Given the description of an element on the screen output the (x, y) to click on. 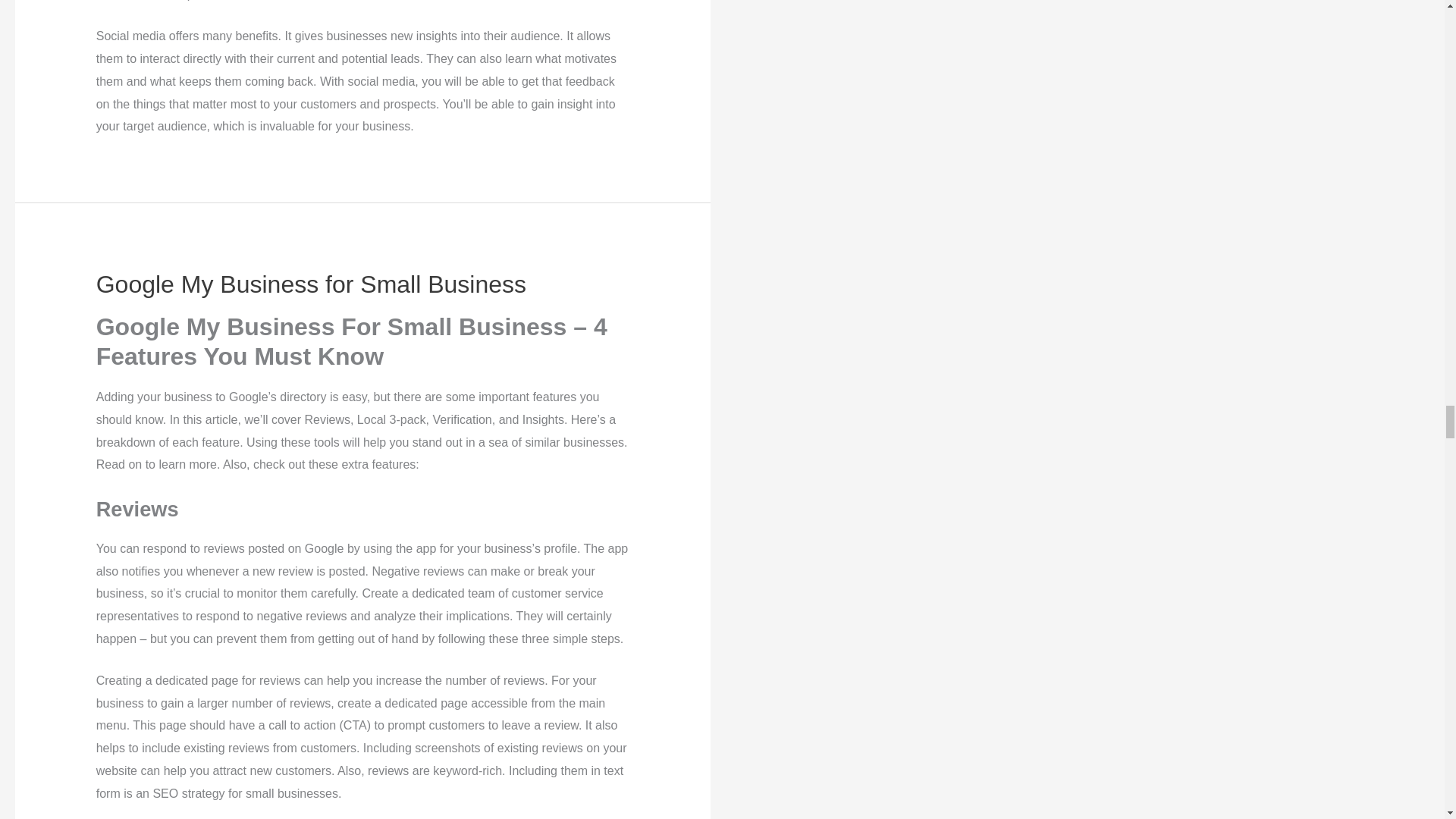
Google My Business for Small Business (310, 284)
